Given the description of an element on the screen output the (x, y) to click on. 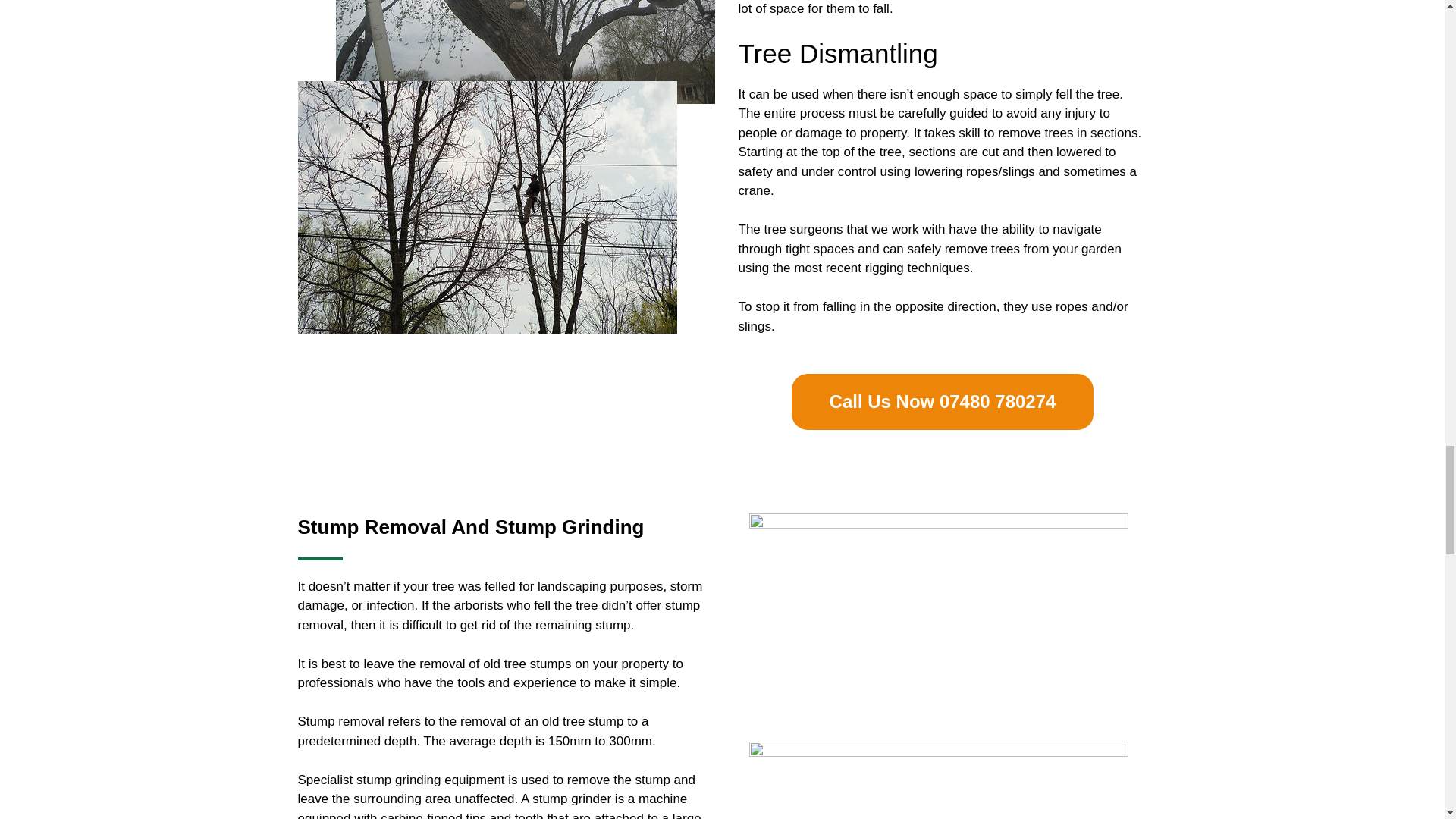
Stump Removal And Stump Grinding (470, 526)
Call Us Now 07480 780274 (943, 402)
